Given the description of an element on the screen output the (x, y) to click on. 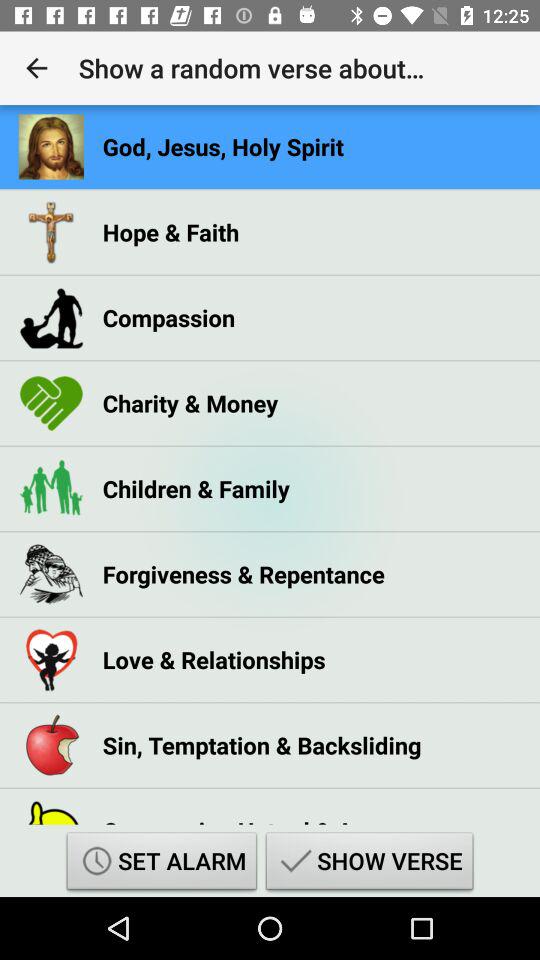
choose love & relationships (213, 659)
